Given the description of an element on the screen output the (x, y) to click on. 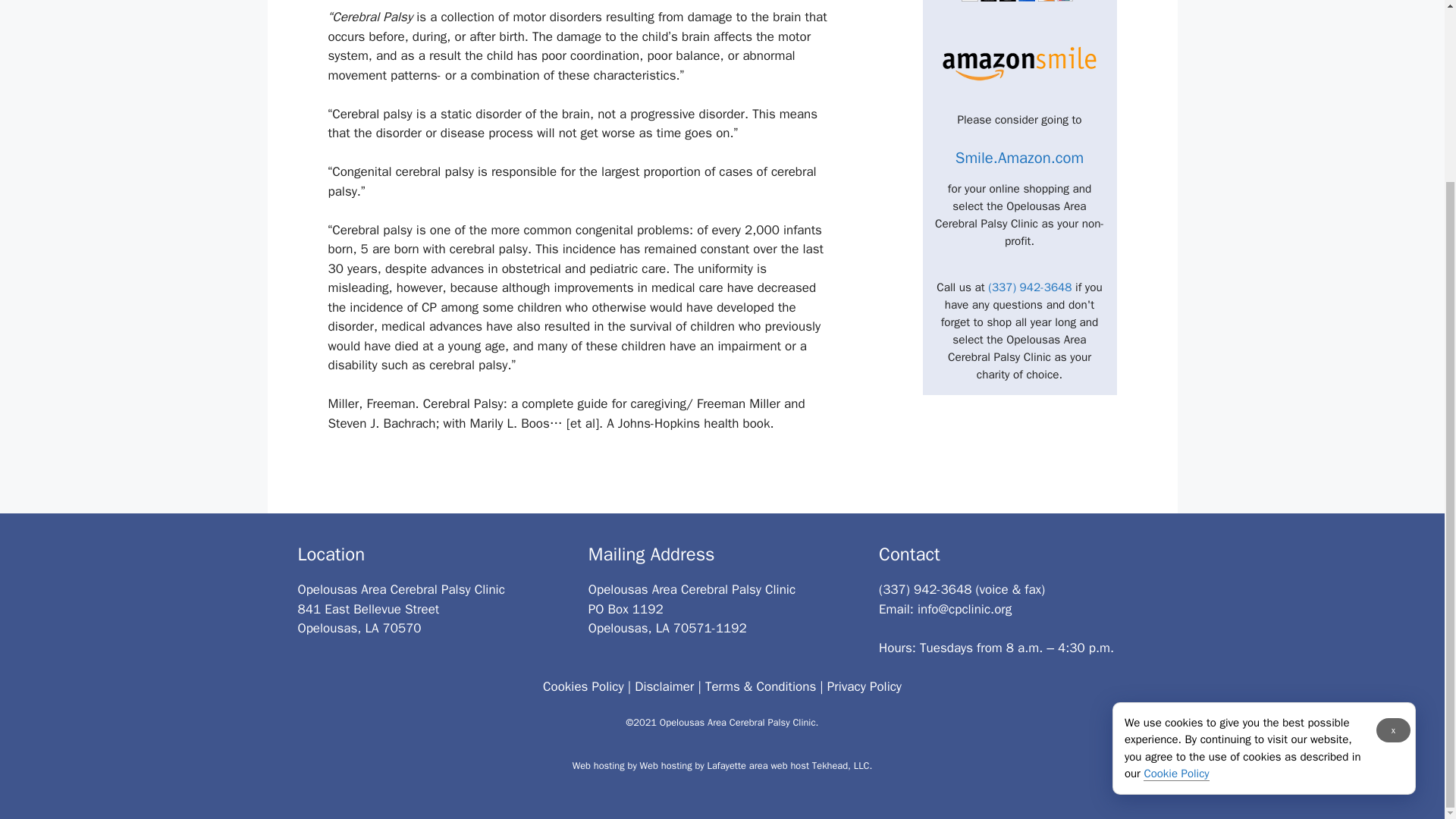
Privacy Policy (864, 686)
Cookies Policy (583, 686)
Smile.Amazon.com (1019, 157)
Cookie Policy (1175, 549)
x (1392, 506)
Web hosting by Lafayette area web host Tekhead, LLC (754, 766)
